Given the description of an element on the screen output the (x, y) to click on. 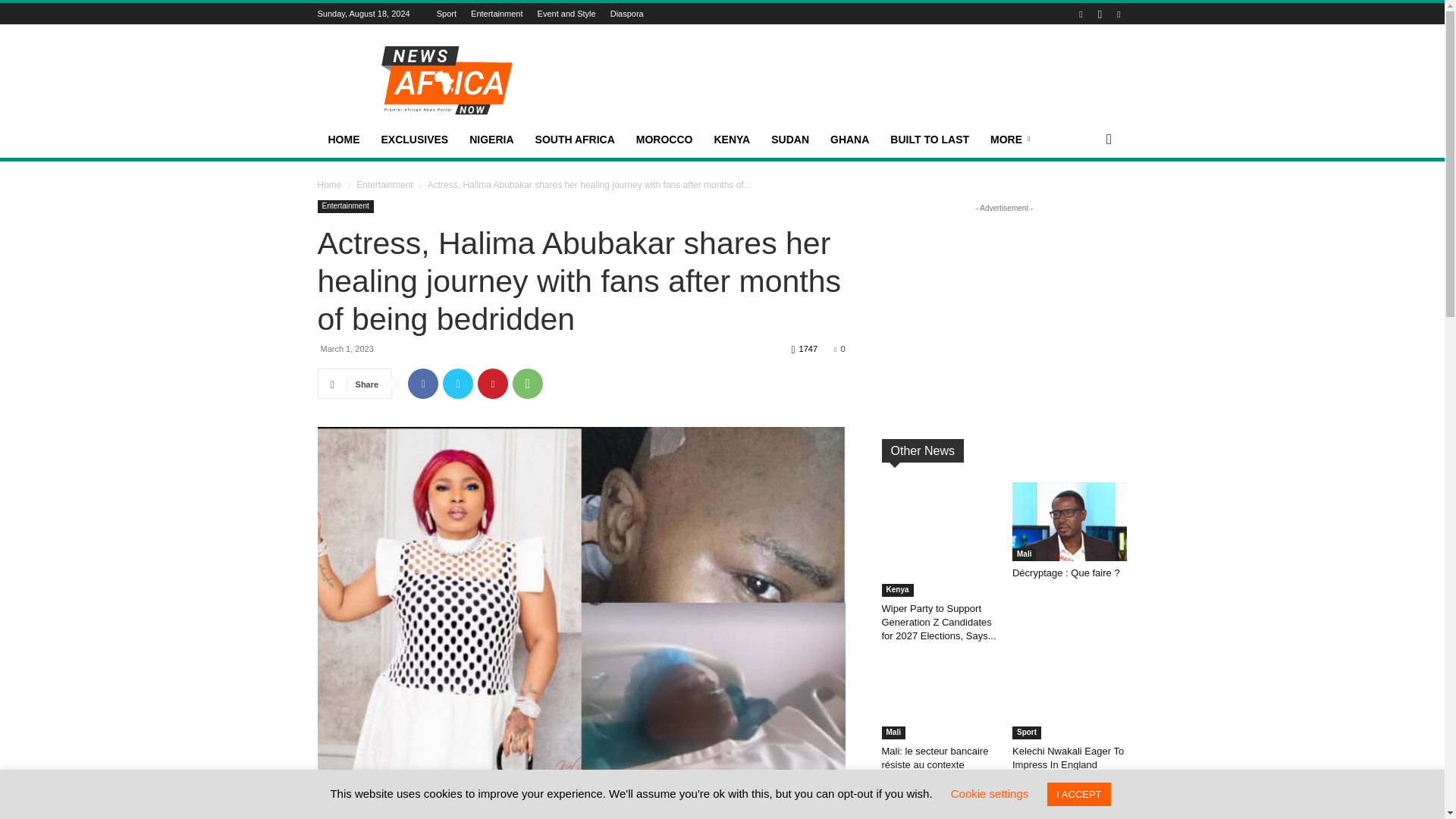
NIGERIA (491, 139)
Advertisement (580, 808)
Sport (446, 13)
Twitter (457, 383)
Facebook (422, 383)
Entertainment (496, 13)
WhatsApp (527, 383)
Pinterest (492, 383)
Diaspora (626, 13)
Advertisement (850, 79)
